Given the description of an element on the screen output the (x, y) to click on. 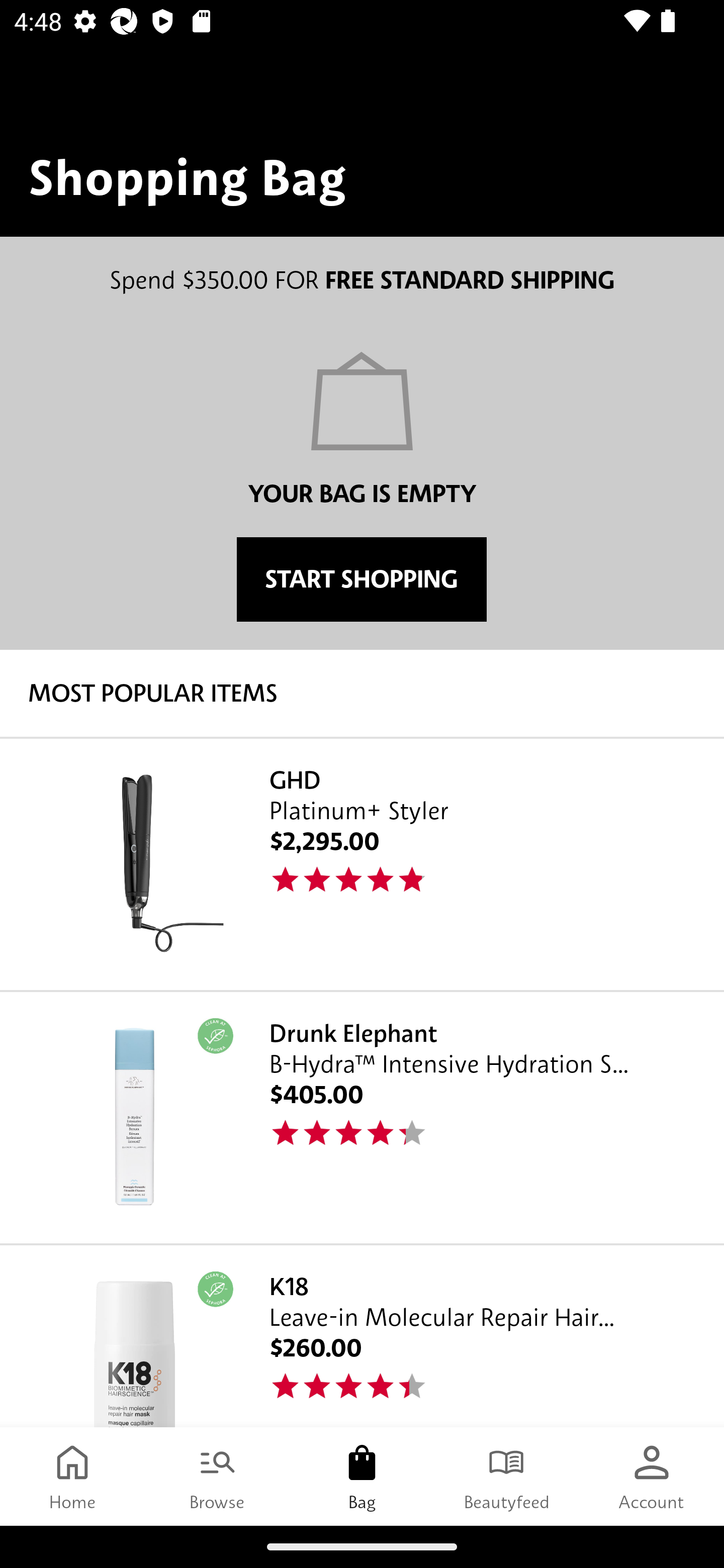
START SHOPPING (361, 578)
GHD Platinum+ Styler $2,295.00 48.0 (362, 862)
Home (72, 1475)
Browse (216, 1475)
Beautyfeed (506, 1475)
Account (651, 1475)
